Given the description of an element on the screen output the (x, y) to click on. 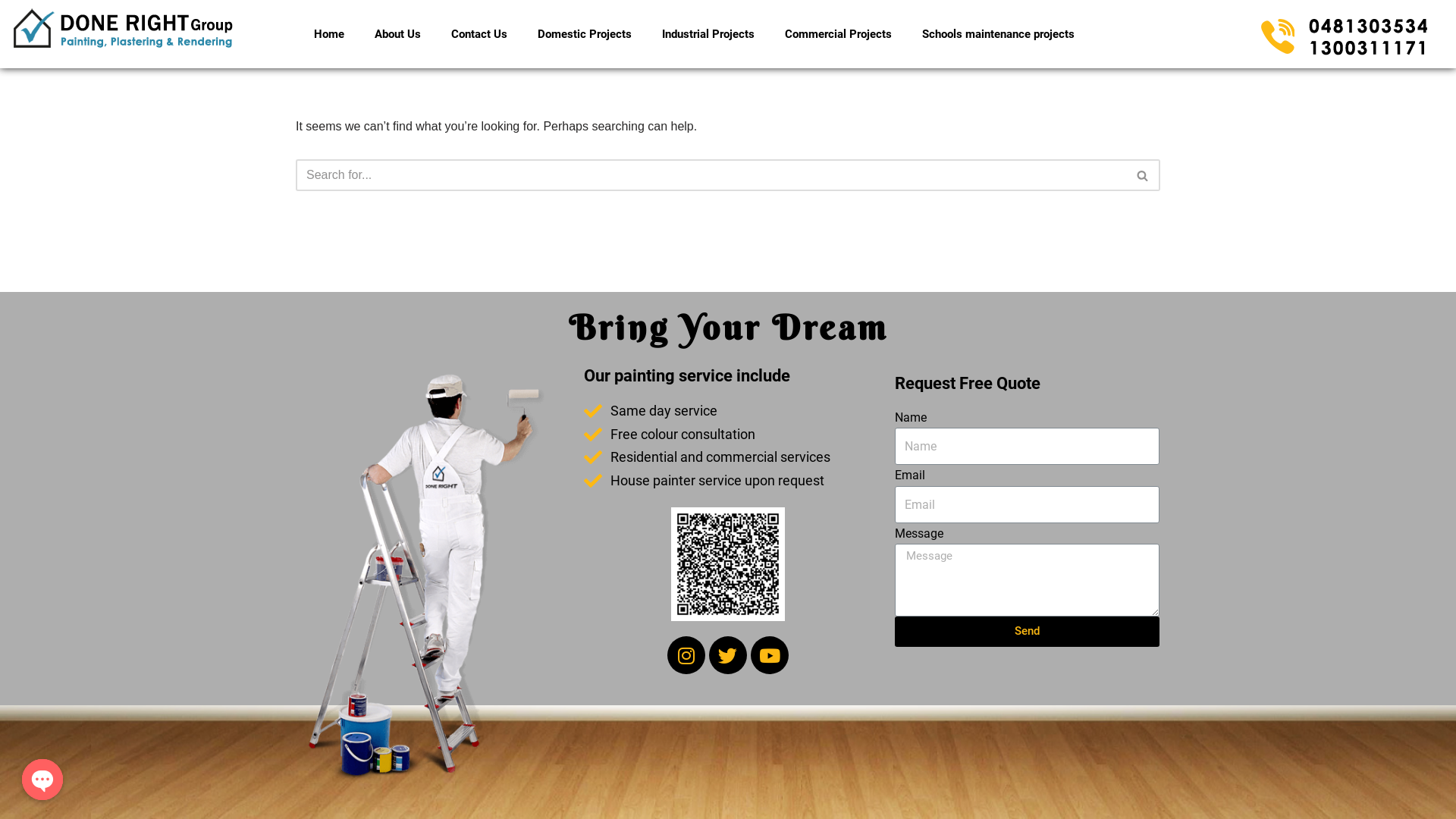
Commercial Projects Element type: text (837, 33)
Contact Us Element type: text (479, 33)
bg_man3 Element type: hover (425, 575)
Domestic Projects Element type: text (584, 33)
About Us Element type: text (397, 33)
Skip to content Element type: text (11, 31)
Industrial Projects Element type: text (707, 33)
Send Element type: text (1026, 631)
Home Element type: text (328, 33)
Schools maintenance projects Element type: text (997, 33)
